Given the description of an element on the screen output the (x, y) to click on. 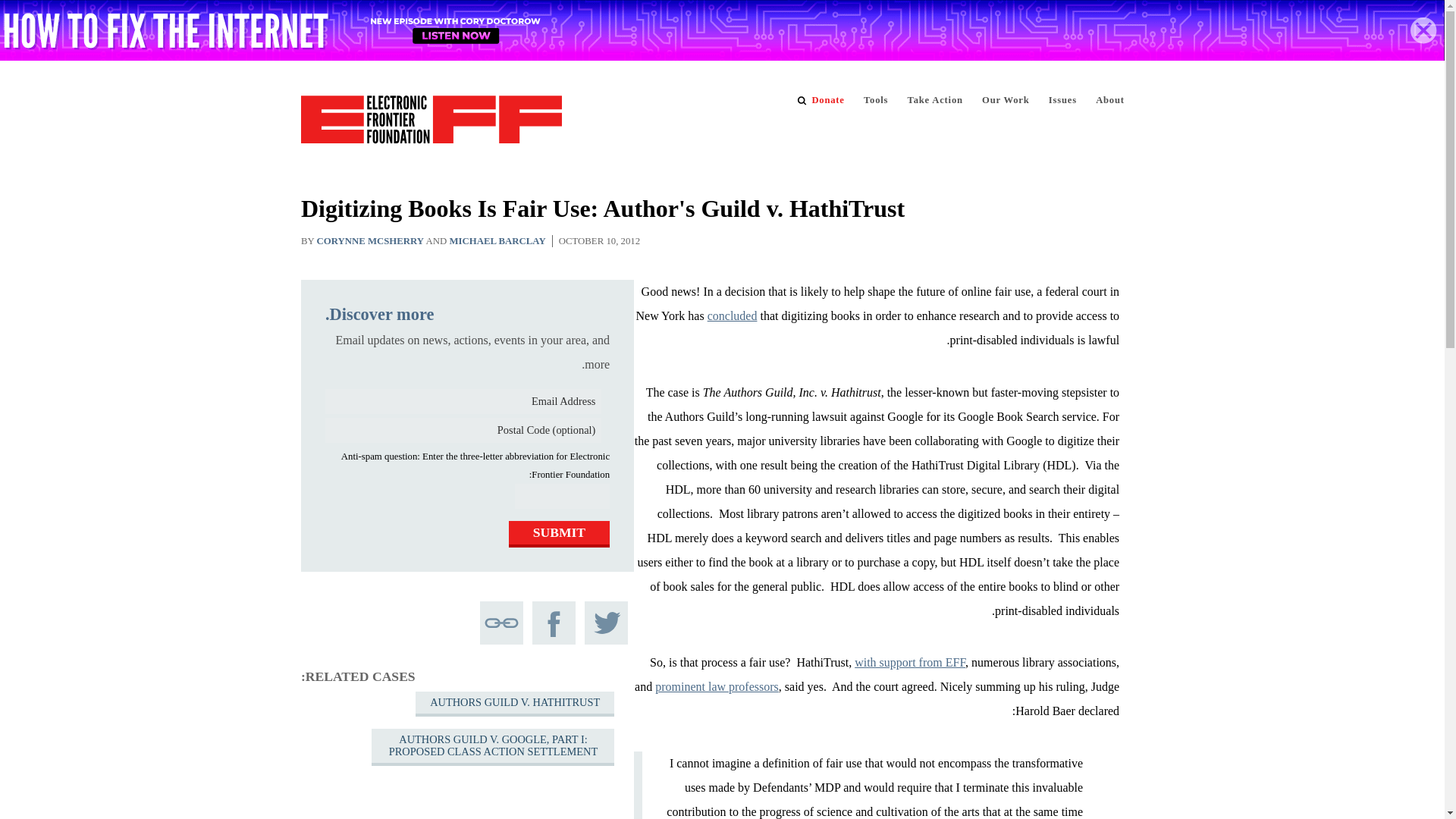
Submit (559, 533)
